Given the description of an element on the screen output the (x, y) to click on. 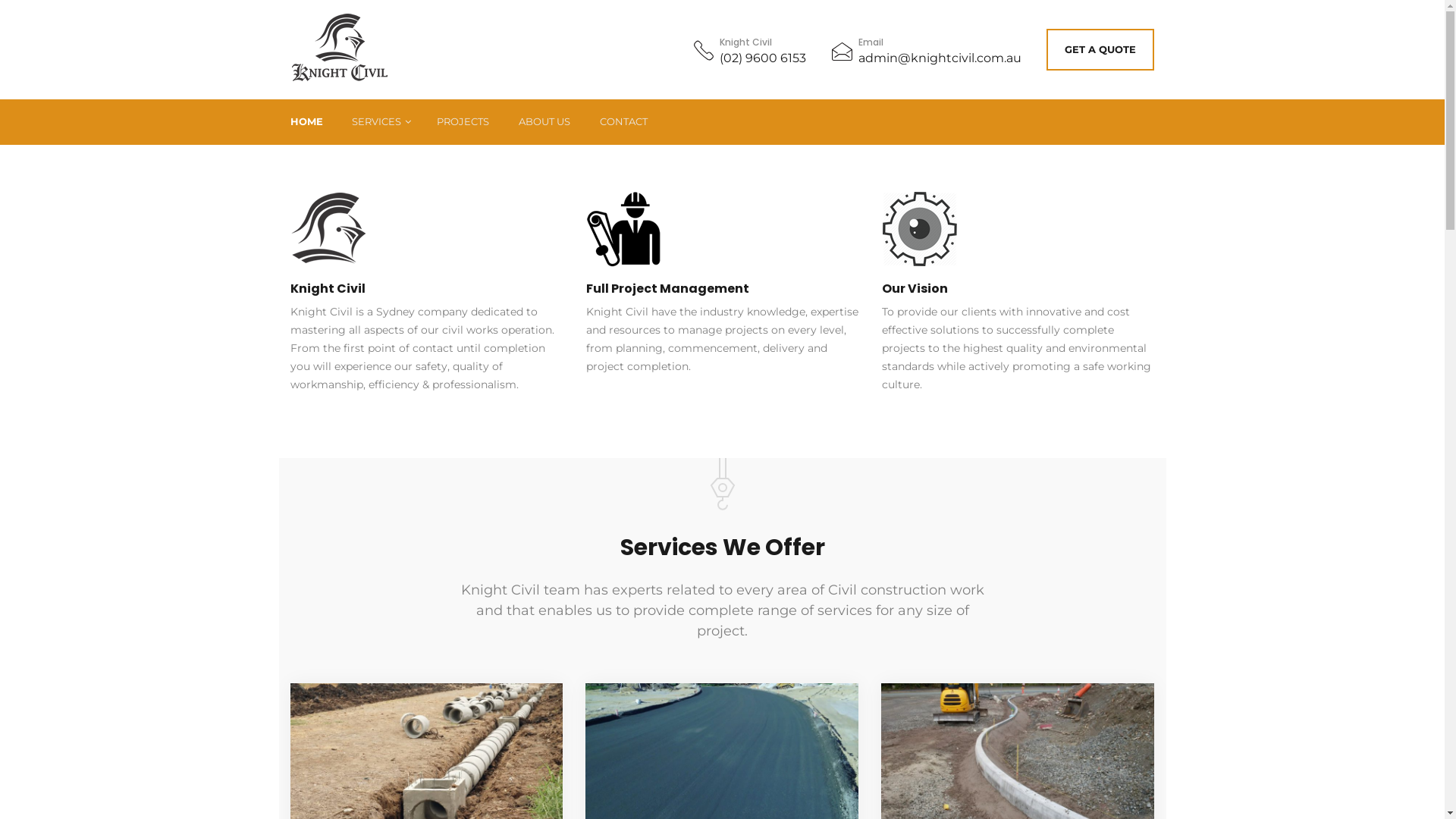
PROJECTS Element type: text (464, 121)
ABOUT US Element type: text (546, 121)
CONTACT Element type: text (625, 121)
admin@knightcivil.com.au Element type: text (939, 57)
CIVIL CONCRETE WORK Element type: text (423, 163)
SERVICES Element type: text (381, 121)
HOME Element type: text (307, 121)
GET A QUOTE Element type: text (1100, 49)
